Given the description of an element on the screen output the (x, y) to click on. 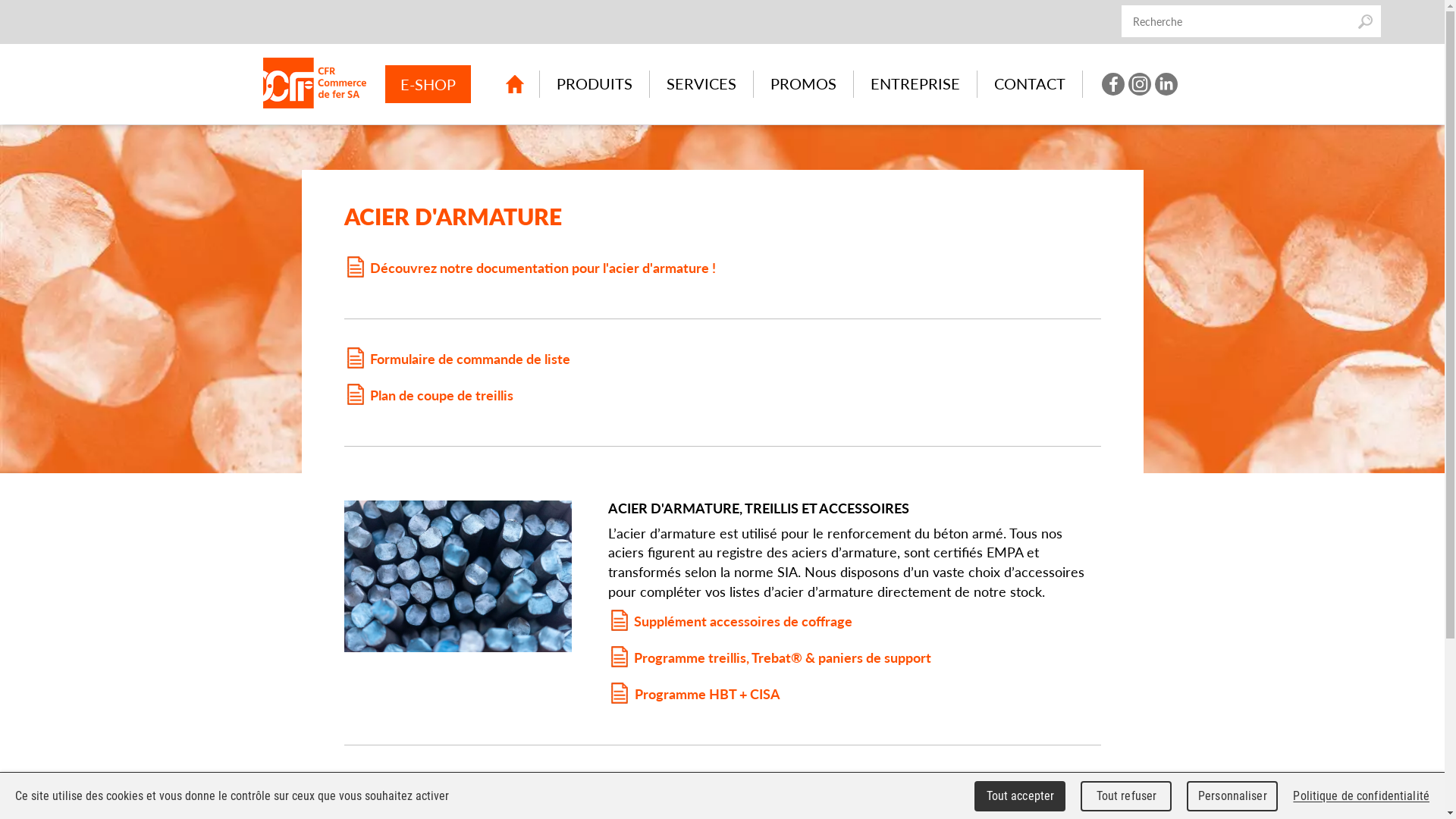
CONTACT Element type: text (1029, 83)
Personnaliser Element type: text (1231, 796)
ENTREPRISE Element type: text (914, 83)
PROMOS Element type: text (803, 83)
ACCUEIL Element type: text (514, 83)
SERVICES Element type: text (701, 83)
Recherche Element type: text (1364, 21)
Tout accepter Element type: text (1019, 796)
E-SHOP Element type: text (427, 84)
PRODUITS Element type: text (594, 83)
Programme HBT + CISA Element type: text (706, 693)
 Formulaire de commande de liste Element type: text (457, 357)
 Plan de coupe de treillis Element type: text (428, 394)
Tout refuser Element type: text (1125, 796)
